Given the description of an element on the screen output the (x, y) to click on. 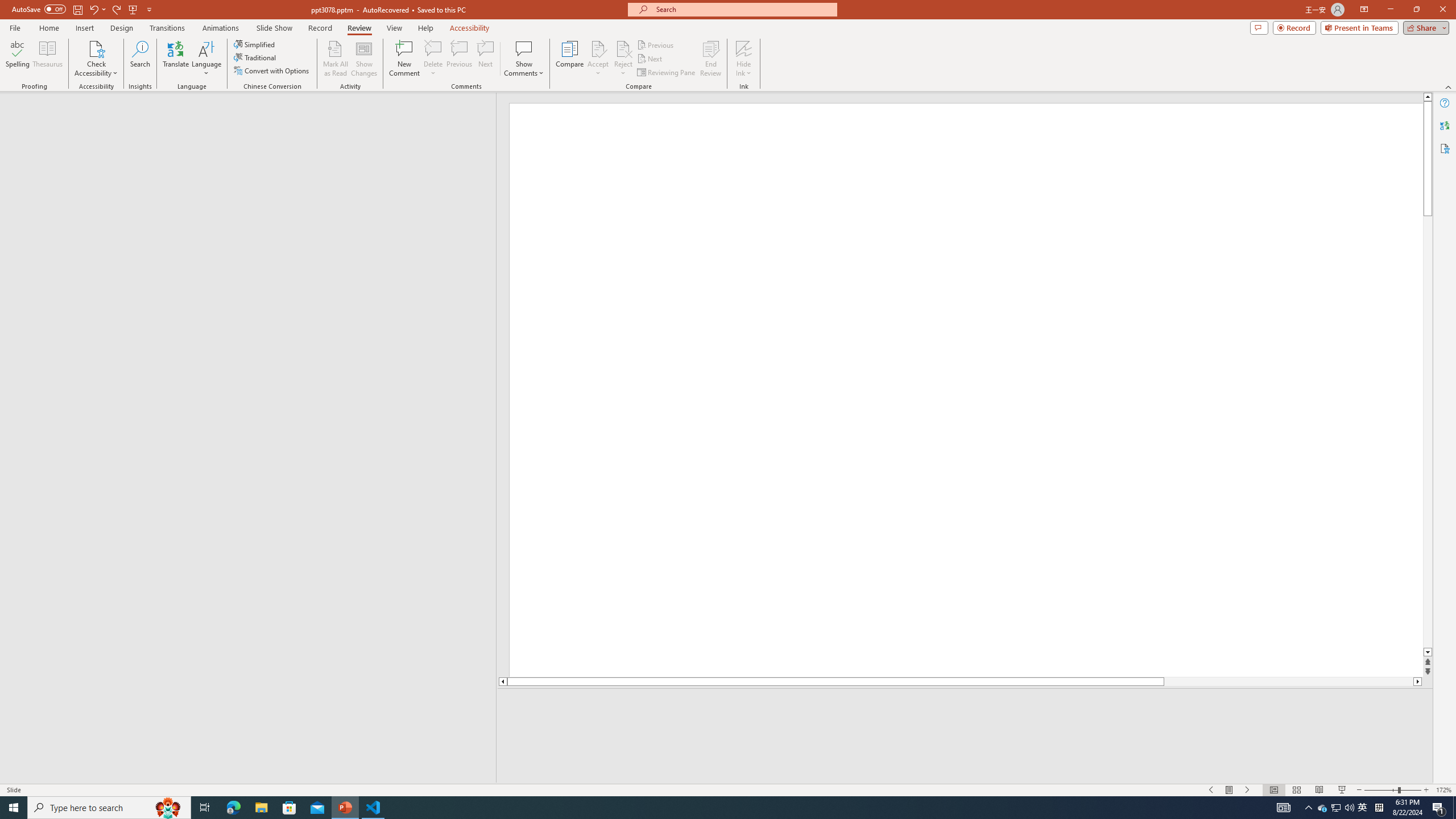
Traditional (255, 56)
Translate (175, 58)
Slide Show Previous On (1211, 790)
Next (649, 58)
Reject Change (622, 48)
Accept (598, 58)
Reviewing Pane (666, 72)
Zoom 172% (1443, 790)
